Given the description of an element on the screen output the (x, y) to click on. 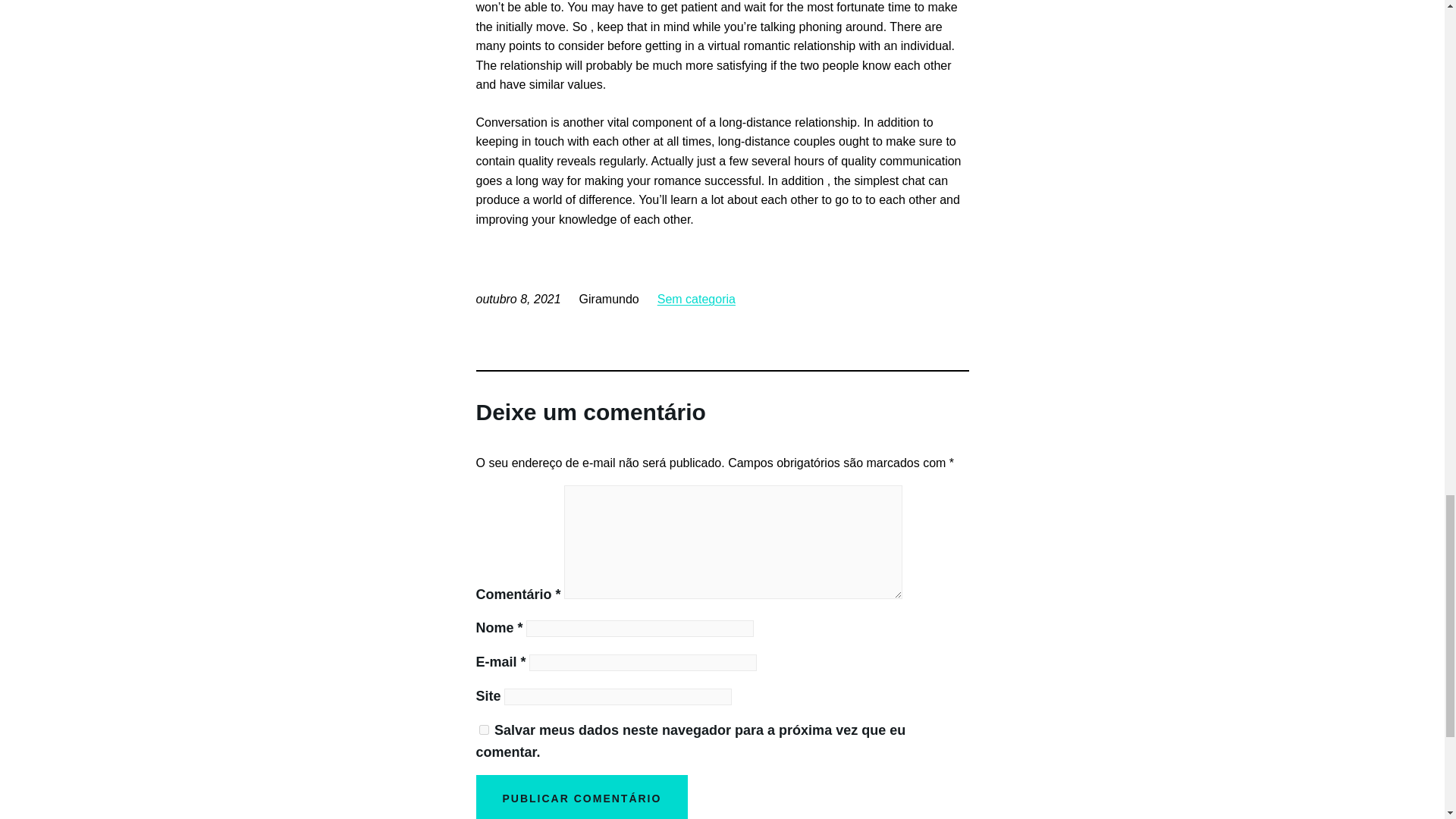
Sem categoria (696, 298)
yes (484, 729)
